Given the description of an element on the screen output the (x, y) to click on. 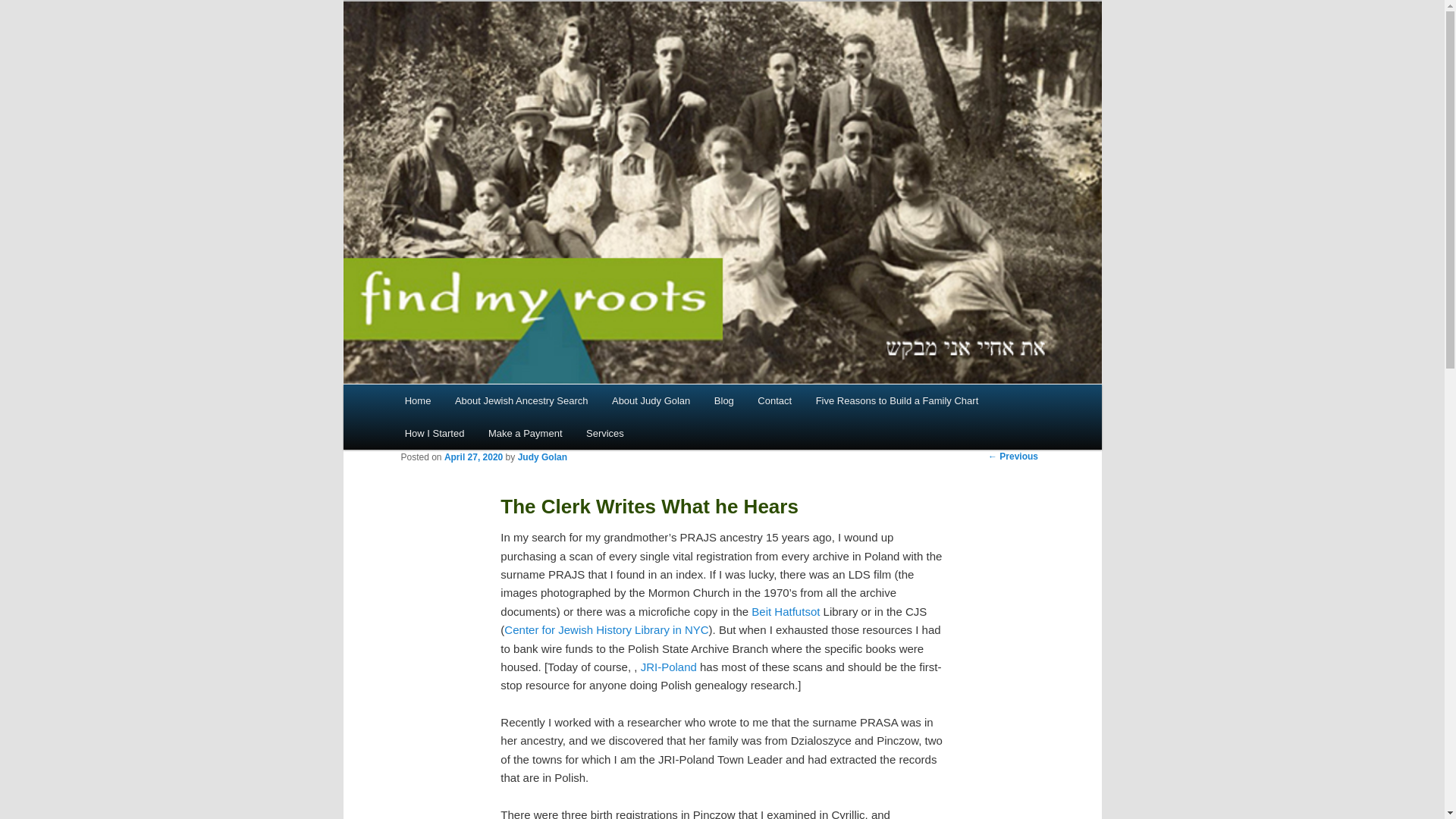
Judy Golan (542, 457)
Skip to primary content (472, 403)
Contact (774, 400)
About Judy Golan (650, 400)
Beit Hatfutsot (785, 611)
Services (603, 432)
Skip to secondary content (479, 403)
Home (417, 400)
How I Started (434, 432)
Skip to secondary content (479, 403)
Five Reasons to Build a Family Chart (896, 400)
View all posts by Judy Golan (542, 457)
April 27, 2020 (473, 457)
Skip to primary content (472, 403)
Make a Payment (524, 432)
